Given the description of an element on the screen output the (x, y) to click on. 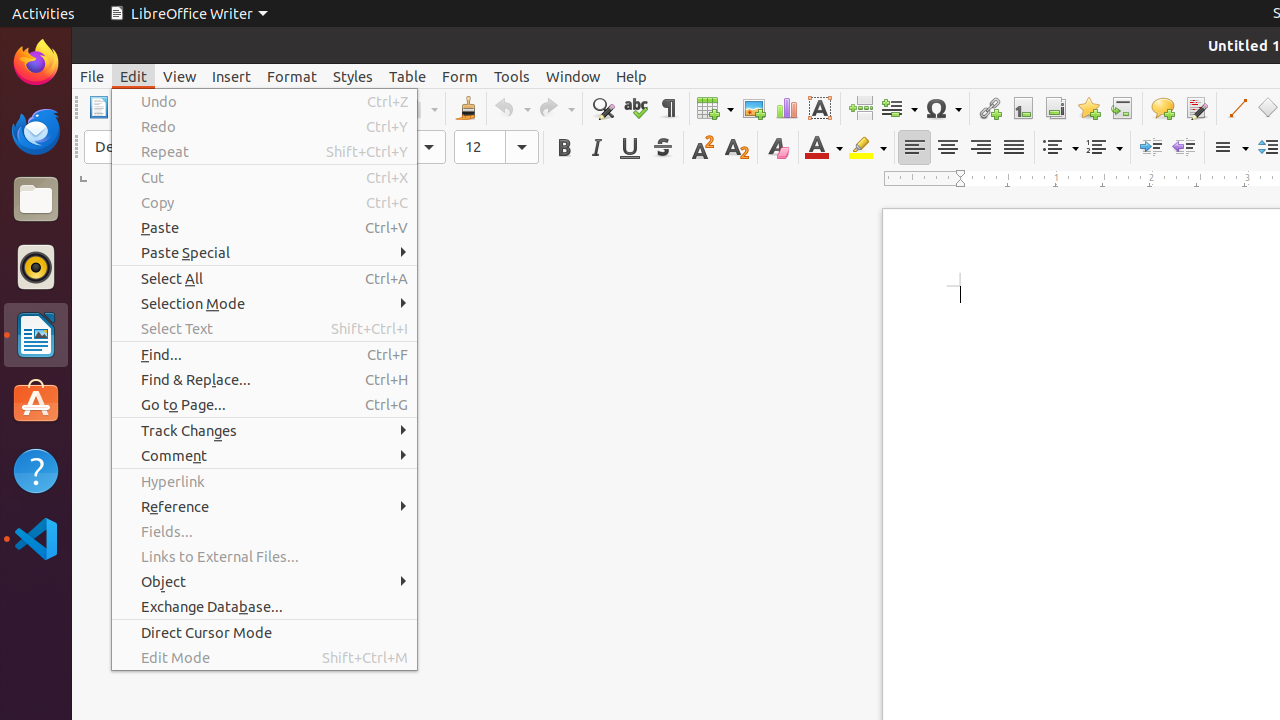
Find & Replace Element type: toggle-button (602, 108)
Comment Element type: menu (264, 455)
Selection Mode Element type: menu (264, 303)
Format Element type: menu (292, 76)
Italic Element type: toggle-button (596, 147)
